Given the description of an element on the screen output the (x, y) to click on. 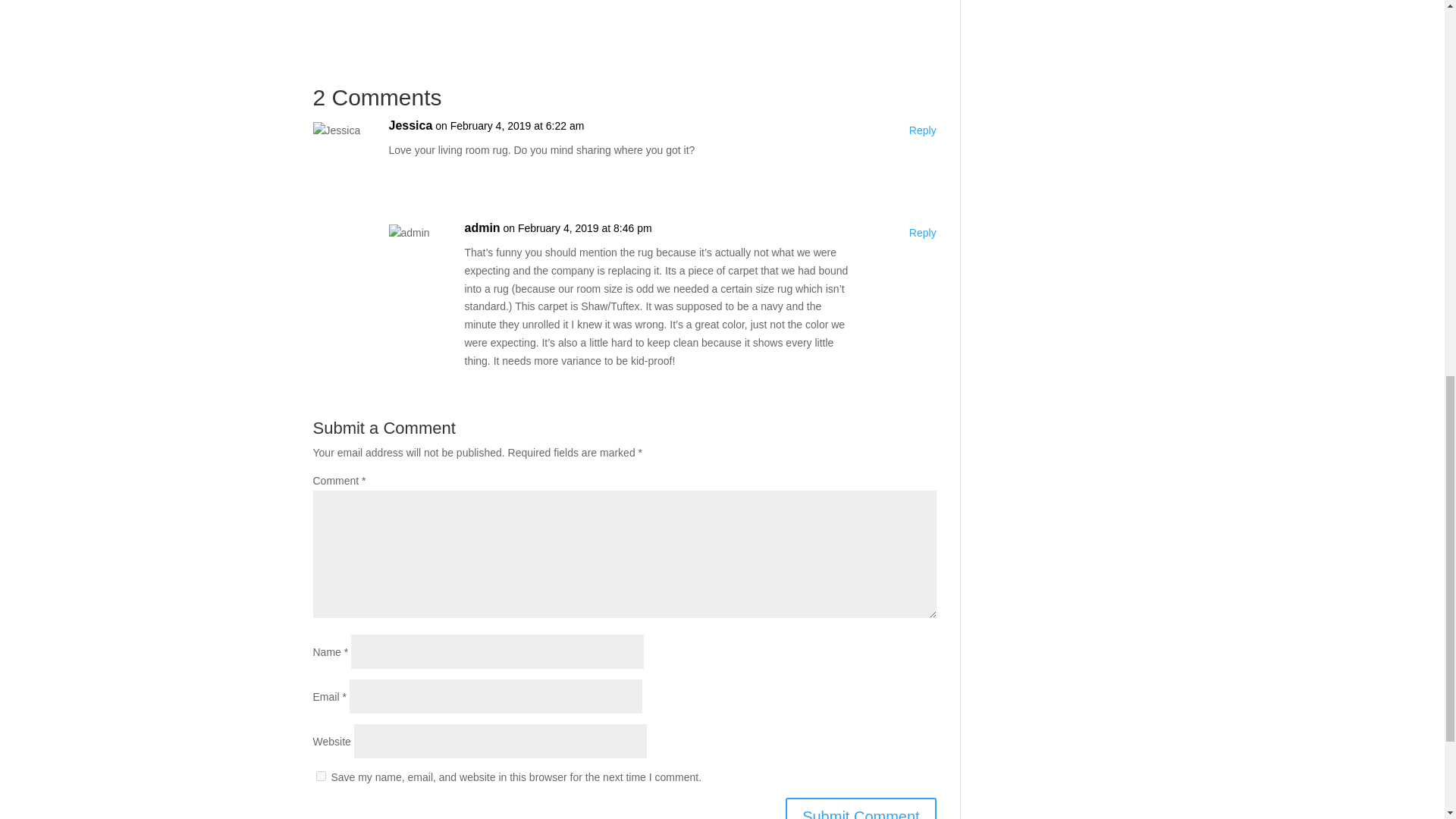
Reply (922, 233)
Submit Comment (861, 808)
Reply (922, 131)
yes (319, 776)
Submit Comment (861, 808)
